Given the description of an element on the screen output the (x, y) to click on. 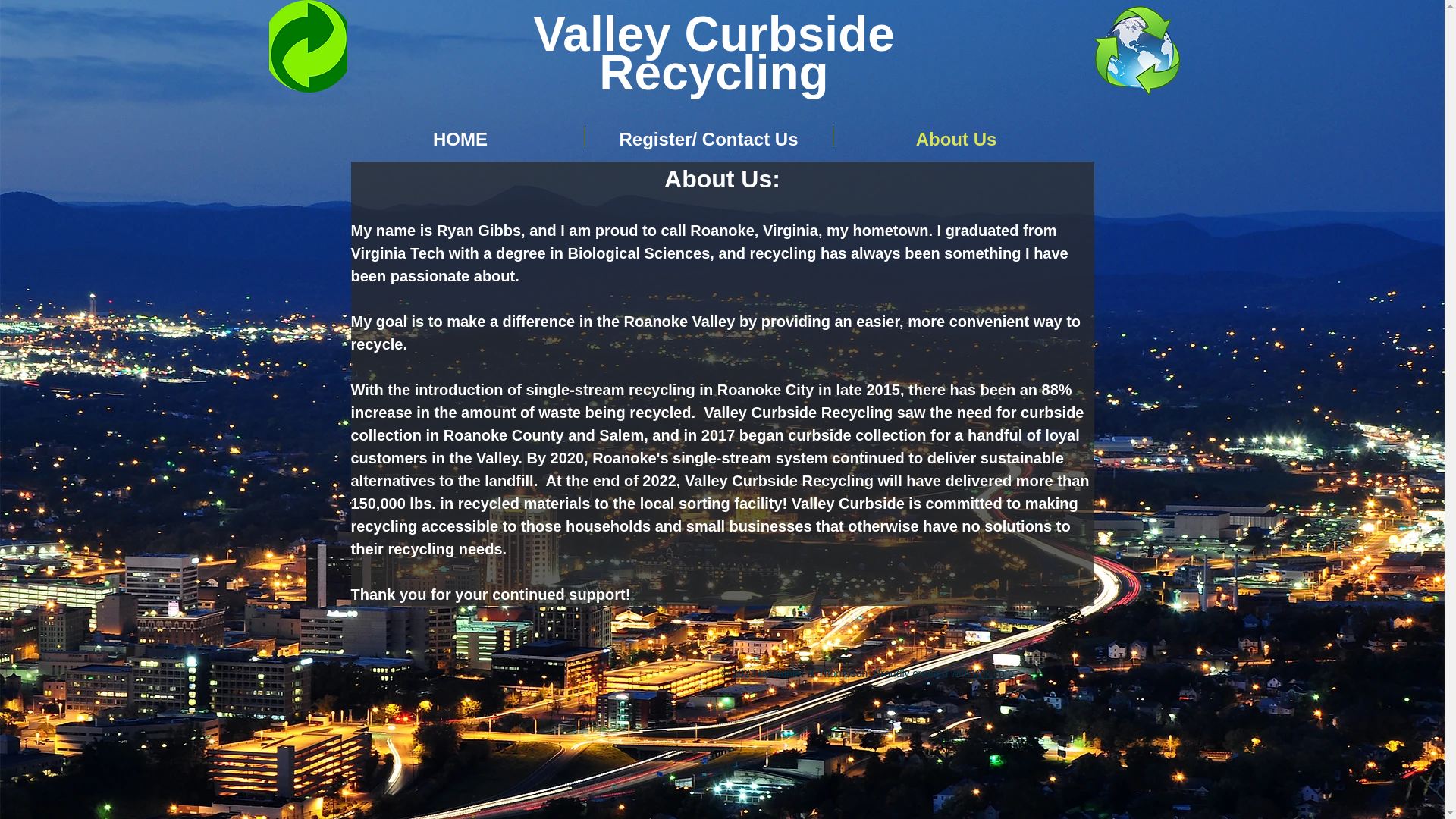
HOME (460, 136)
Wix.com (992, 673)
About Us (955, 136)
